Given the description of an element on the screen output the (x, y) to click on. 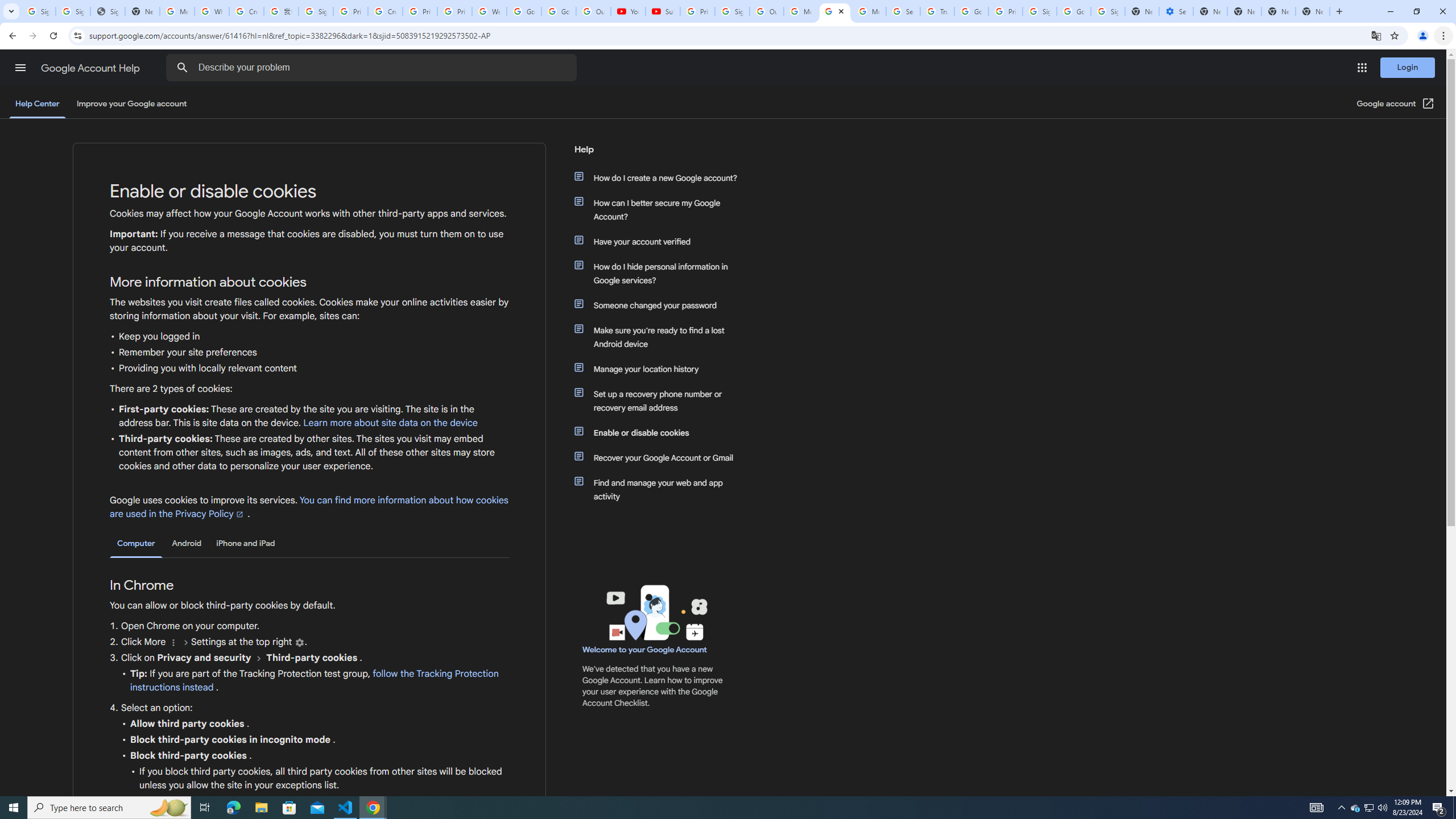
Find and manage your web and app activity (661, 489)
Search our Doodle Library Collection - Google Doodles (903, 11)
Someone changed your password (661, 305)
Create your Google Account (246, 11)
Settings - Performance (1176, 11)
